Given the description of an element on the screen output the (x, y) to click on. 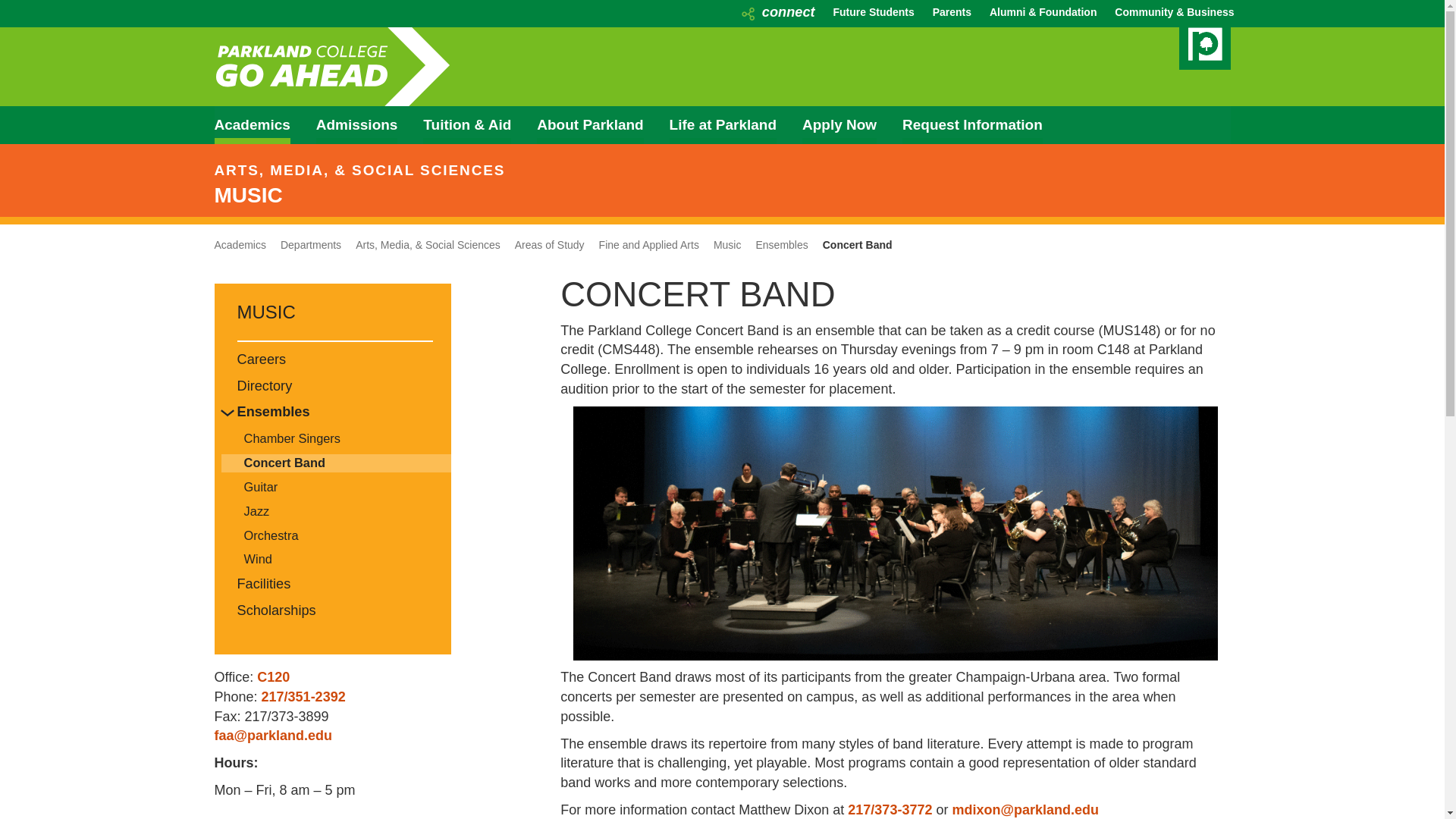
connect (778, 12)
Academics (263, 129)
Future Students (873, 12)
Parents (952, 12)
Connect Student Portal (778, 12)
